Given the description of an element on the screen output the (x, y) to click on. 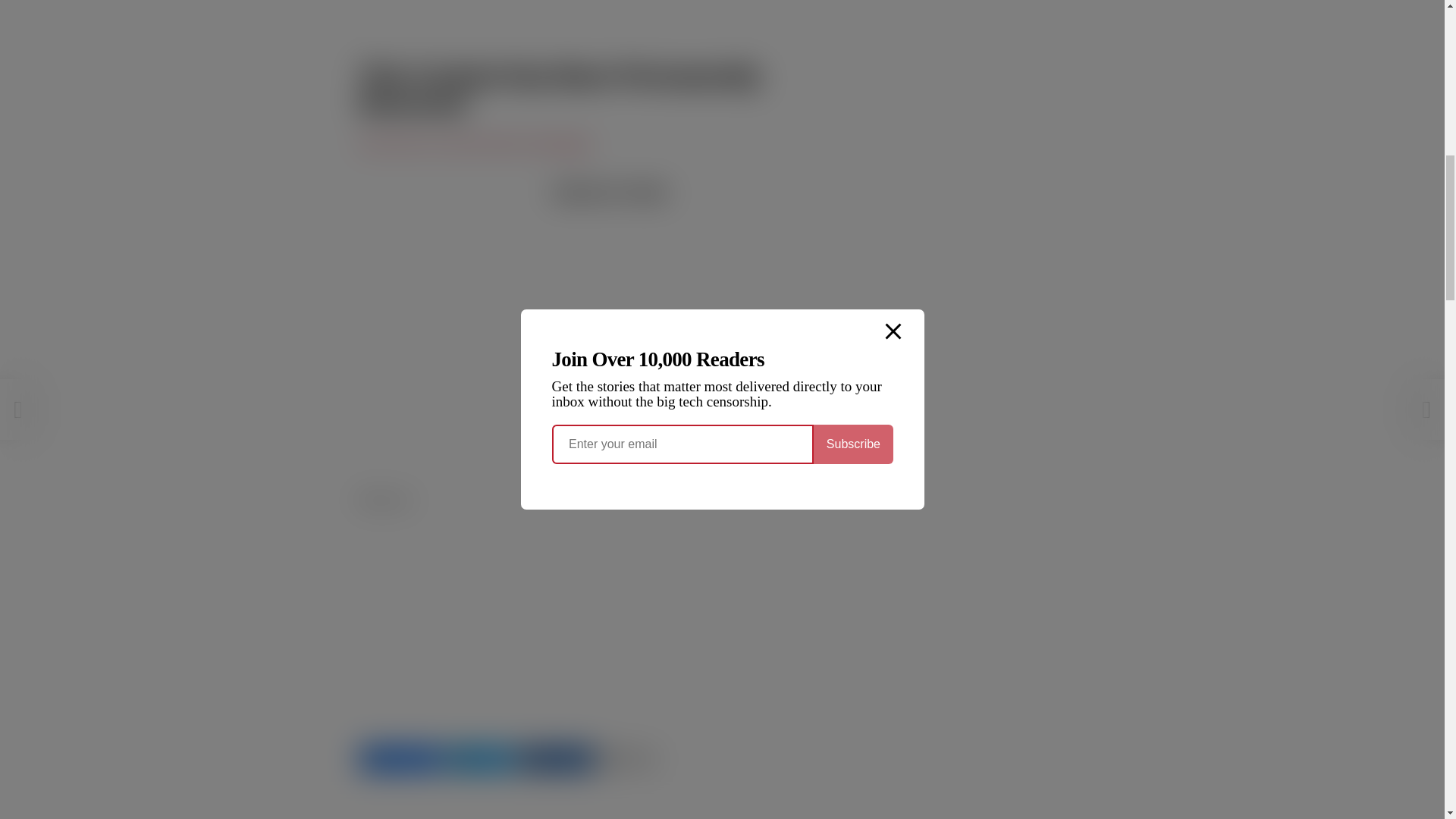
LinkedIn (556, 759)
Twitter (478, 759)
More (629, 759)
Facebook (398, 759)
Click Here to visit the Rare Homepage. (476, 143)
